Given the description of an element on the screen output the (x, y) to click on. 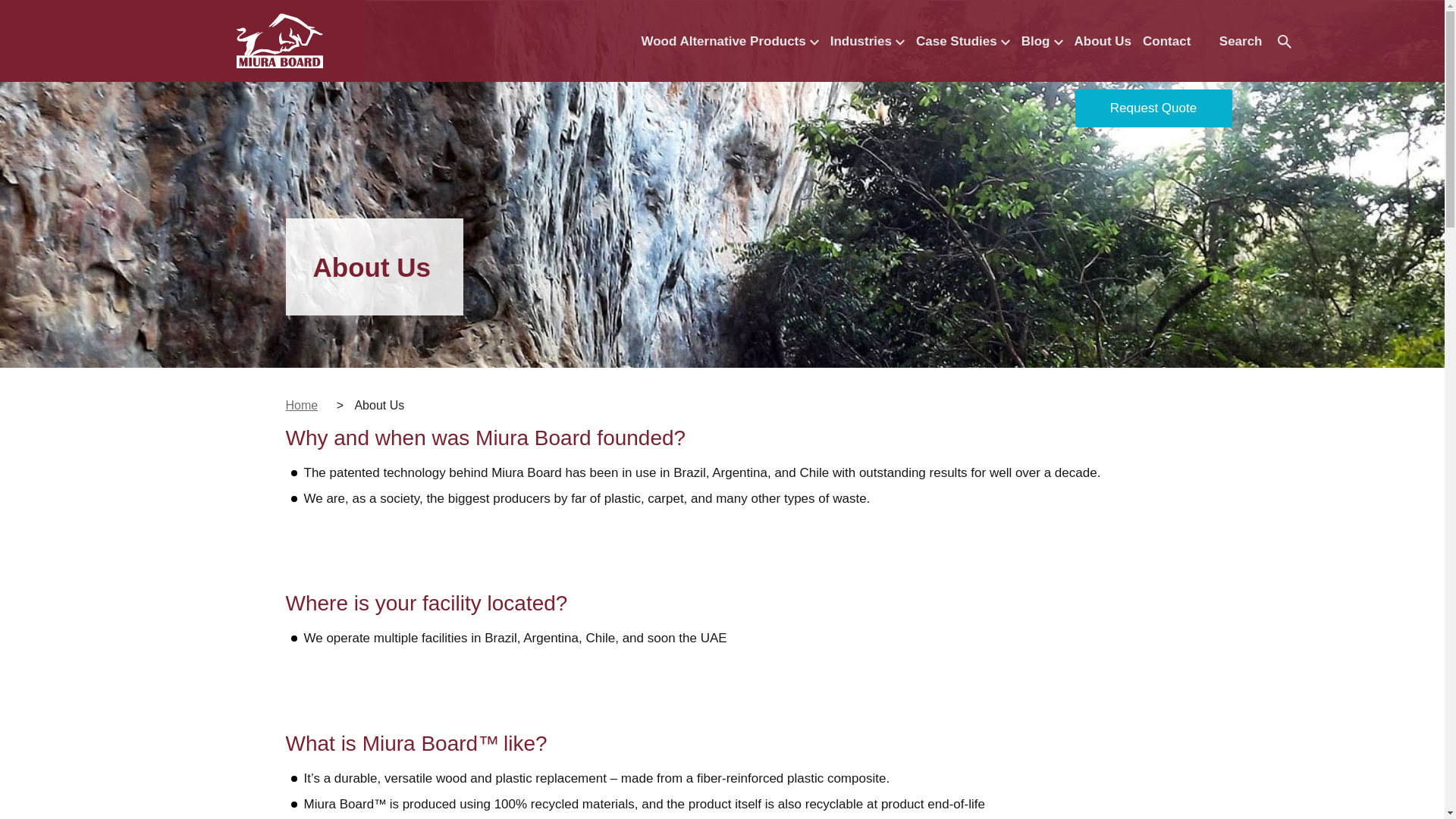
About Us (1102, 41)
Miura Board Logo (279, 40)
Request Quote (1153, 108)
Wood Alternative Products (729, 41)
Blog (1042, 41)
Contact (1166, 41)
Home (301, 404)
Case Studies (962, 41)
Industries (867, 41)
Search (1255, 41)
